Given the description of an element on the screen output the (x, y) to click on. 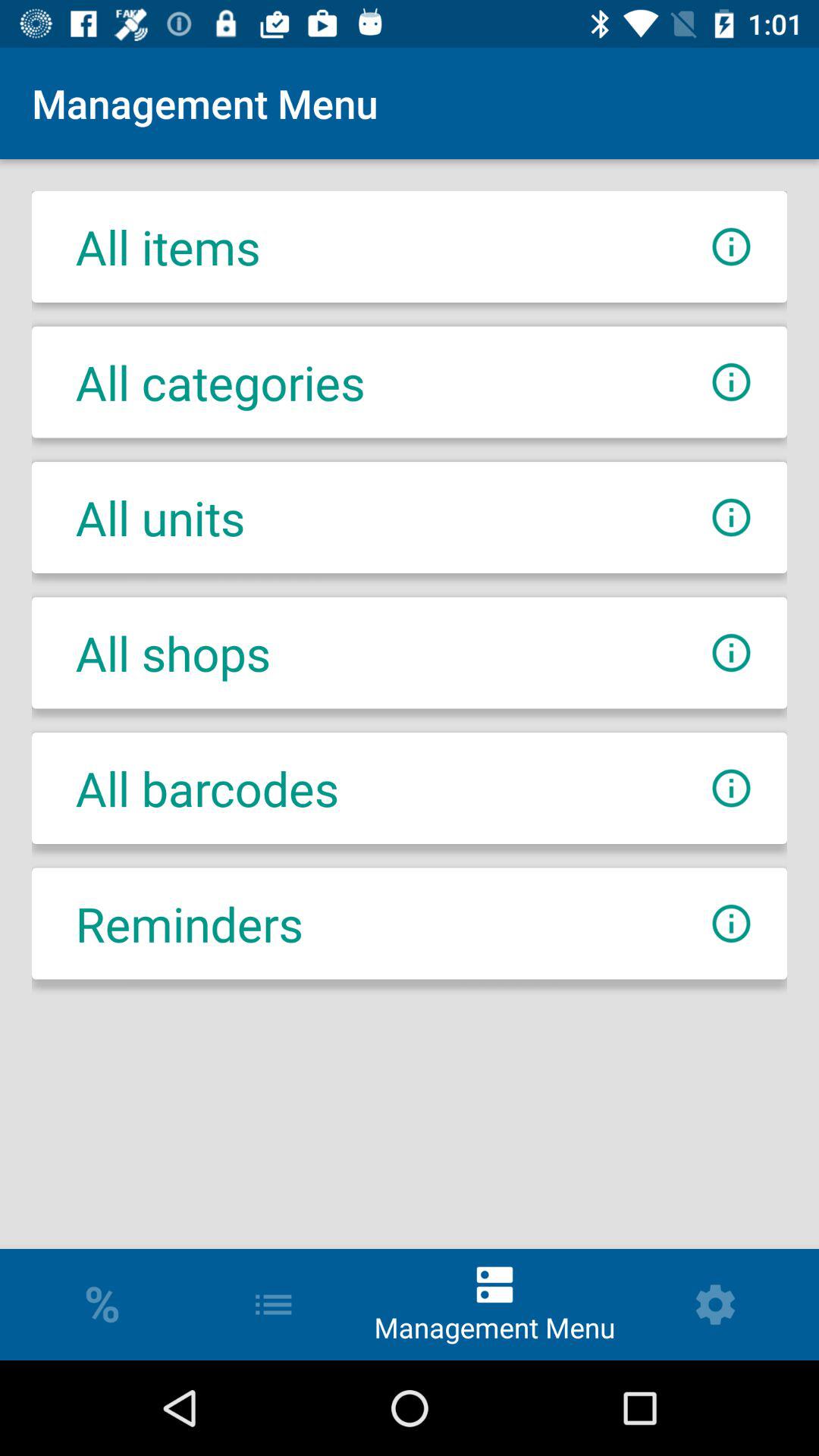
open infos for all barcodes (731, 788)
